Given the description of an element on the screen output the (x, y) to click on. 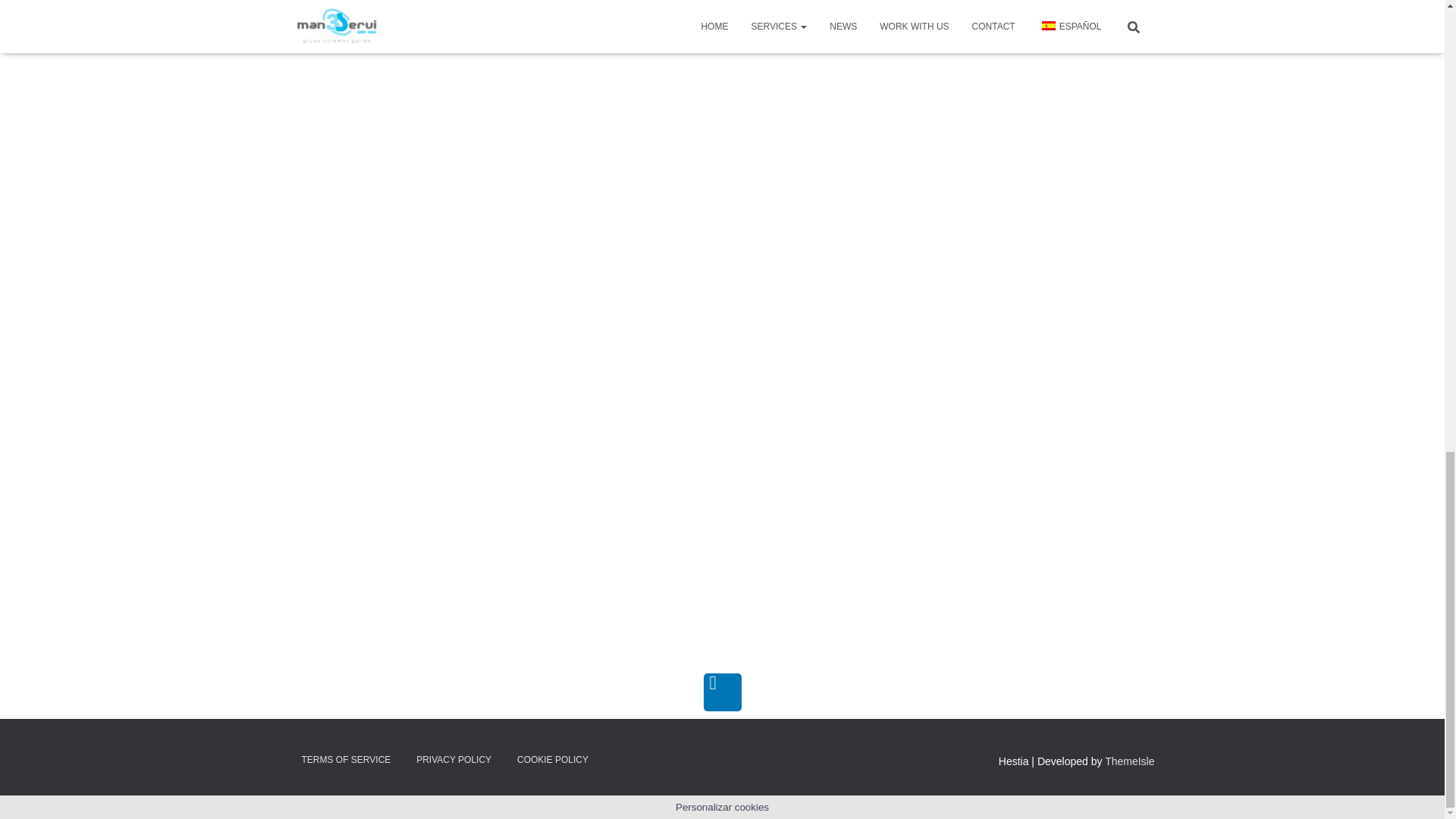
COOKIE POLICY (552, 760)
TERMS OF SERVICE (345, 760)
ThemeIsle (1129, 761)
PRIVACY POLICY (453, 760)
